Given the description of an element on the screen output the (x, y) to click on. 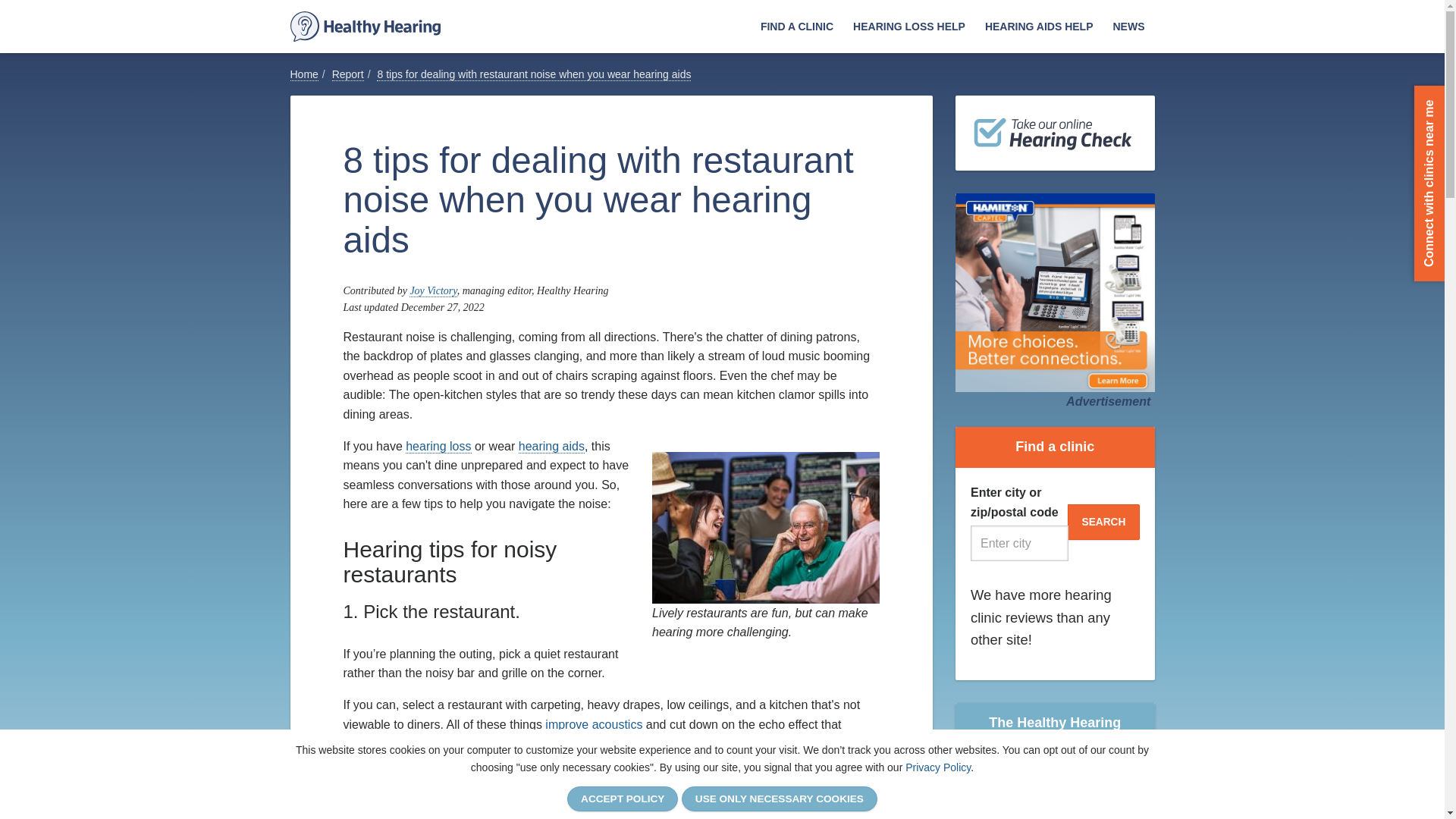
FIND A CLINIC (797, 26)
NEWS (1128, 26)
HEARING AIDS HELP (1039, 26)
HEARING LOSS HELP (909, 26)
Caption the conversation with a Captel phone (1054, 293)
